Given the description of an element on the screen output the (x, y) to click on. 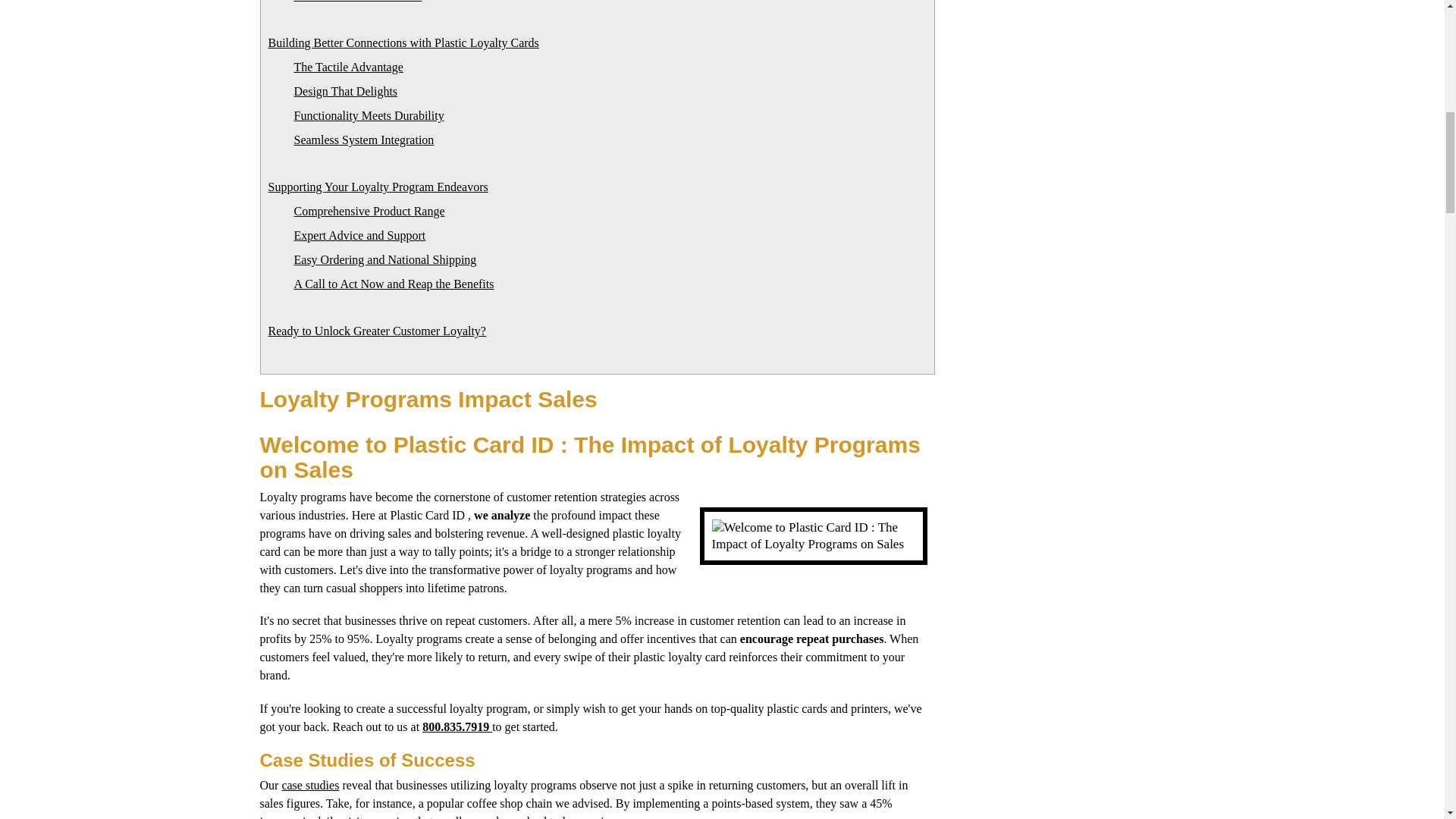
Refinement and Evolution (358, 1)
Comprehensive Product Range (369, 210)
Design That Delights (345, 91)
Building Better Connections with Plastic Loyalty Cards (402, 42)
Supporting Your Loyalty Program Endeavors (377, 186)
Seamless System Integration (363, 139)
The Tactile Advantage (348, 66)
Functionality Meets Durability (369, 115)
